Given the description of an element on the screen output the (x, y) to click on. 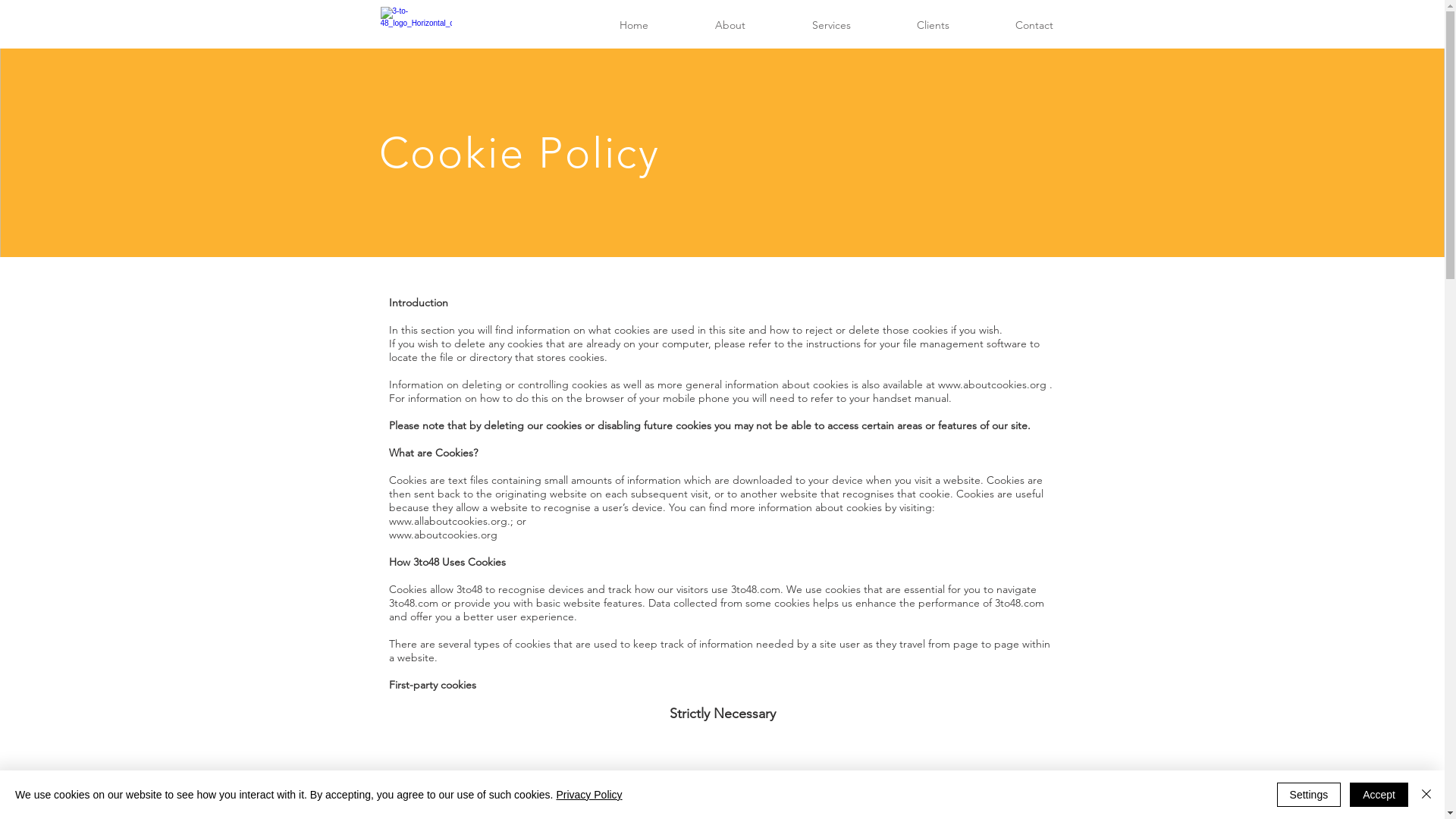
Accept Element type: text (1378, 794)
Contact Element type: text (1034, 25)
Settings Element type: text (1309, 794)
Privacy Policy Element type: text (588, 794)
www.aboutcookies.org Element type: text (991, 384)
Services Element type: text (830, 25)
www.allaboutcookies.org Element type: text (447, 520)
Clients Element type: text (933, 25)
Home Element type: text (632, 25)
About Element type: text (729, 25)
www.aboutcookies.org Element type: text (442, 534)
